Given the description of an element on the screen output the (x, y) to click on. 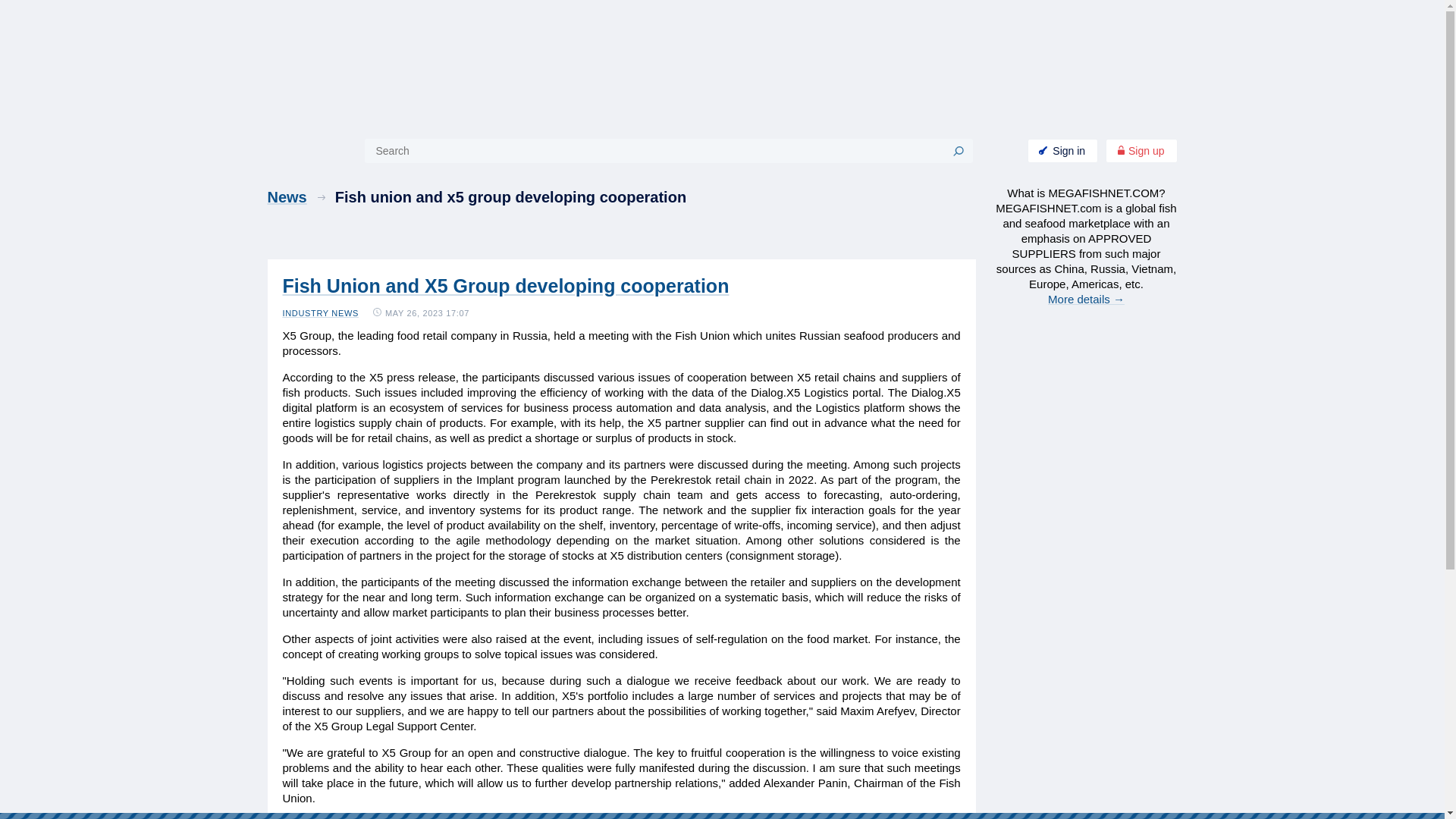
INDUSTRY NEWS (320, 312)
Sign in (1062, 150)
Sign up (1140, 150)
News (300, 196)
